Given the description of an element on the screen output the (x, y) to click on. 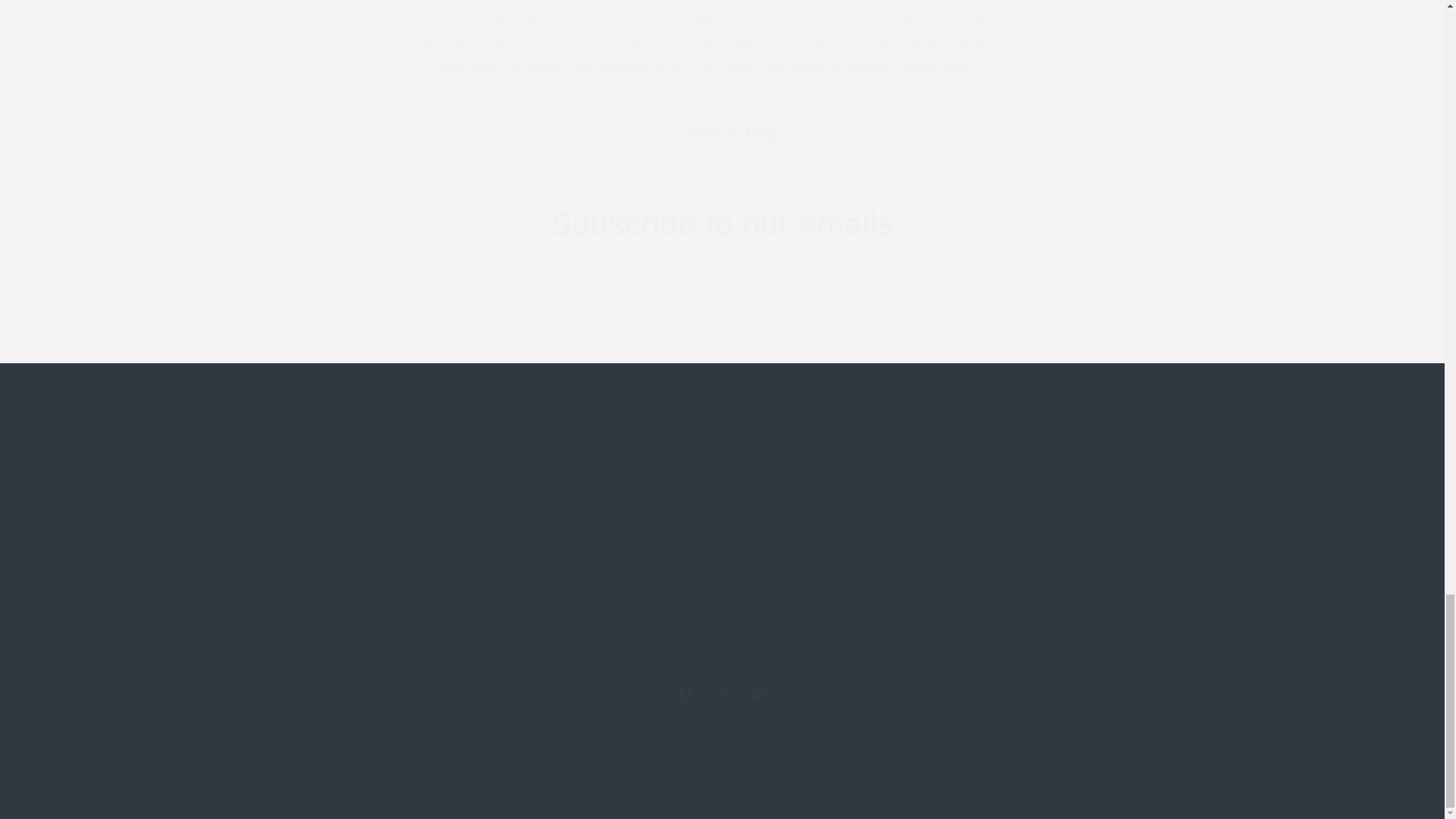
Email (721, 692)
Subscribe to our emails (722, 321)
